Given the description of an element on the screen output the (x, y) to click on. 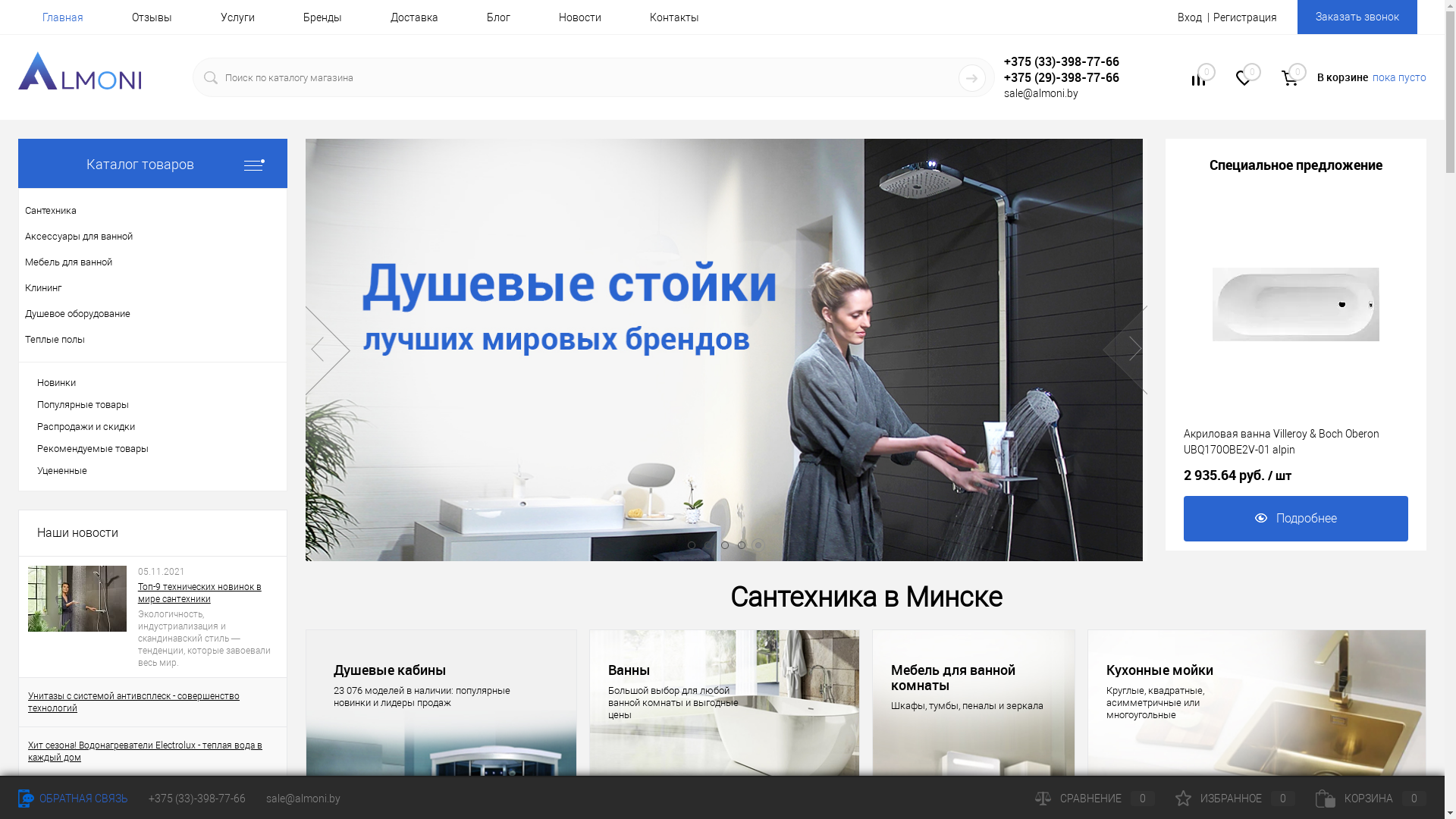
0 Element type: text (1289, 77)
+375 (33)-398-77-66 Element type: text (1072, 61)
+375 (29)-398-77-66 Element type: text (1072, 77)
Y Element type: text (972, 78)
0 Element type: text (1198, 79)
sale@almoni.by Element type: text (1041, 92)
+375 (33)-398-77-66 Element type: text (196, 798)
sale@almoni.by Element type: text (303, 798)
0 Element type: text (1244, 79)
